Given the description of an element on the screen output the (x, y) to click on. 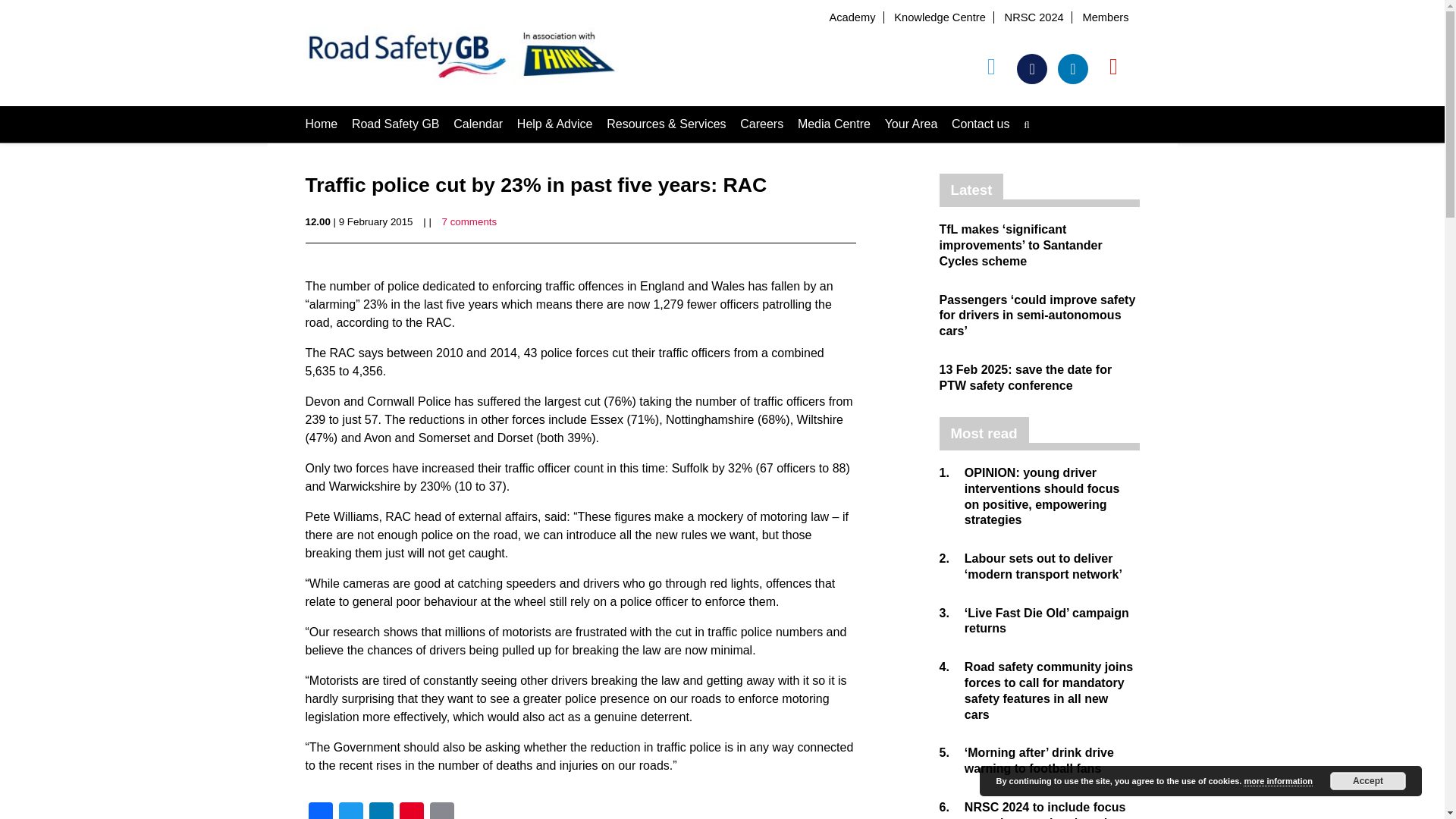
LinkedIn (380, 810)
Calendar (477, 123)
Knowledge Centre (939, 17)
Media Centre (833, 123)
Home (320, 123)
Twitter (349, 810)
NRSC 2024 (1034, 17)
Road Safety GB (395, 123)
Pinterest (411, 810)
Email (441, 810)
Facebook (319, 810)
Members (1104, 17)
Academy (851, 17)
Careers (761, 123)
13 Feb 2025: save the date for PTW safety conference (1025, 377)
